Given the description of an element on the screen output the (x, y) to click on. 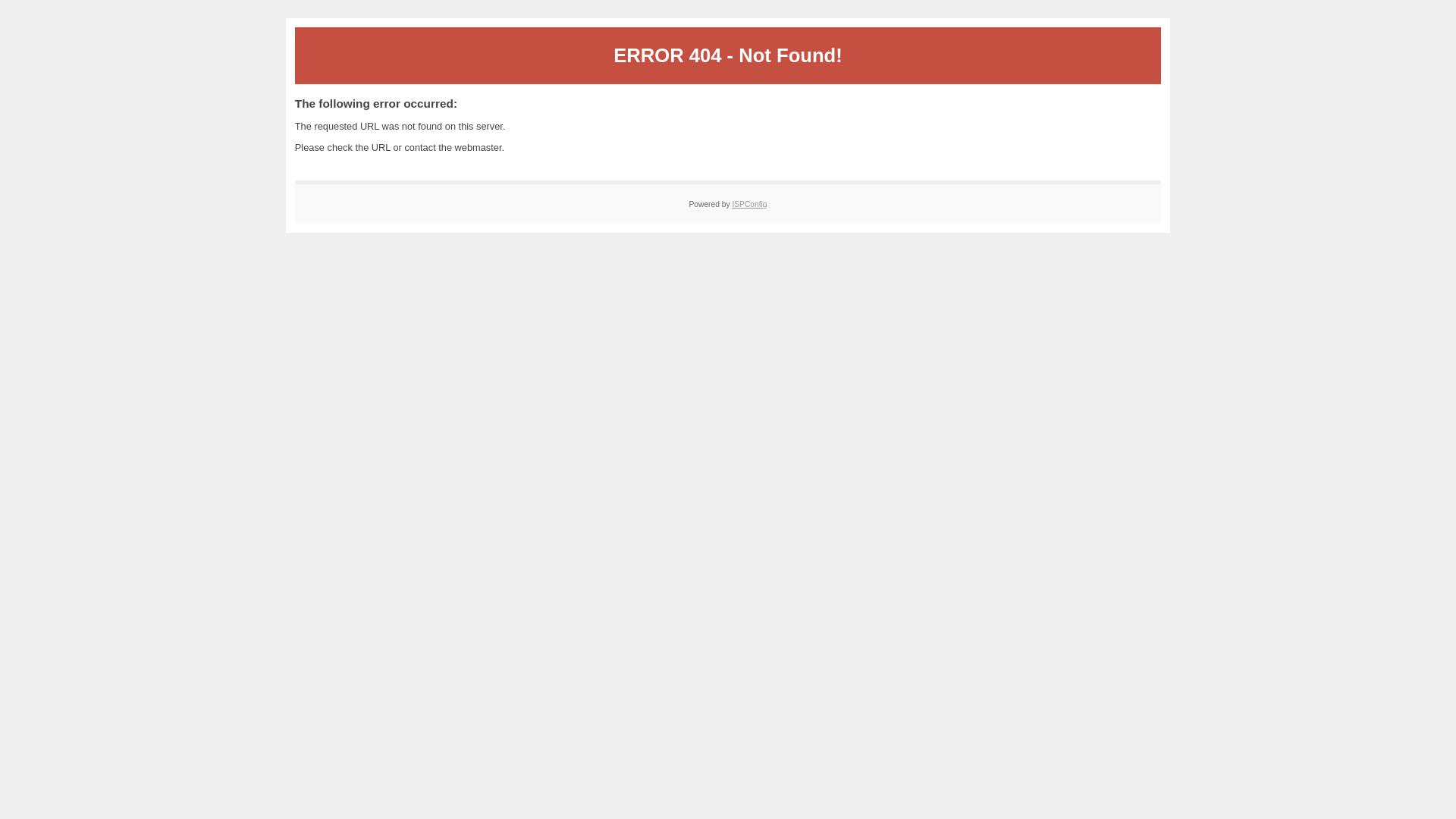
ISPConfig Element type: text (748, 204)
